Given the description of an element on the screen output the (x, y) to click on. 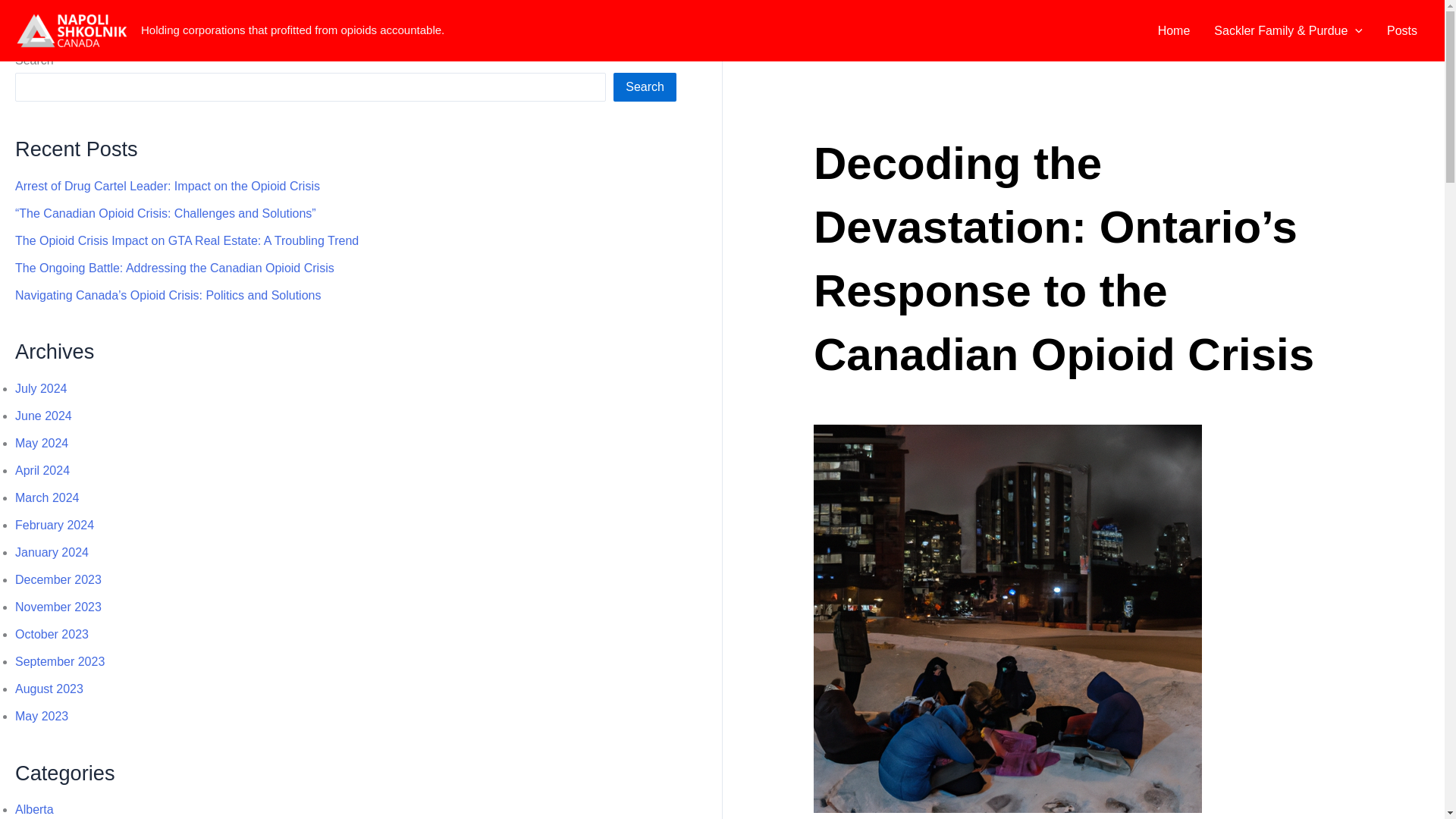
June 2024 (42, 415)
December 2023 (57, 579)
July 2024 (40, 388)
March 2024 (47, 497)
January 2024 (51, 552)
The Ongoing Battle: Addressing the Canadian Opioid Crisis (174, 267)
May 2024 (41, 442)
Home (1173, 30)
Alberta (33, 809)
Search (644, 86)
Posts (1401, 30)
April 2024 (41, 470)
May 2023 (41, 716)
August 2023 (48, 688)
